Given the description of an element on the screen output the (x, y) to click on. 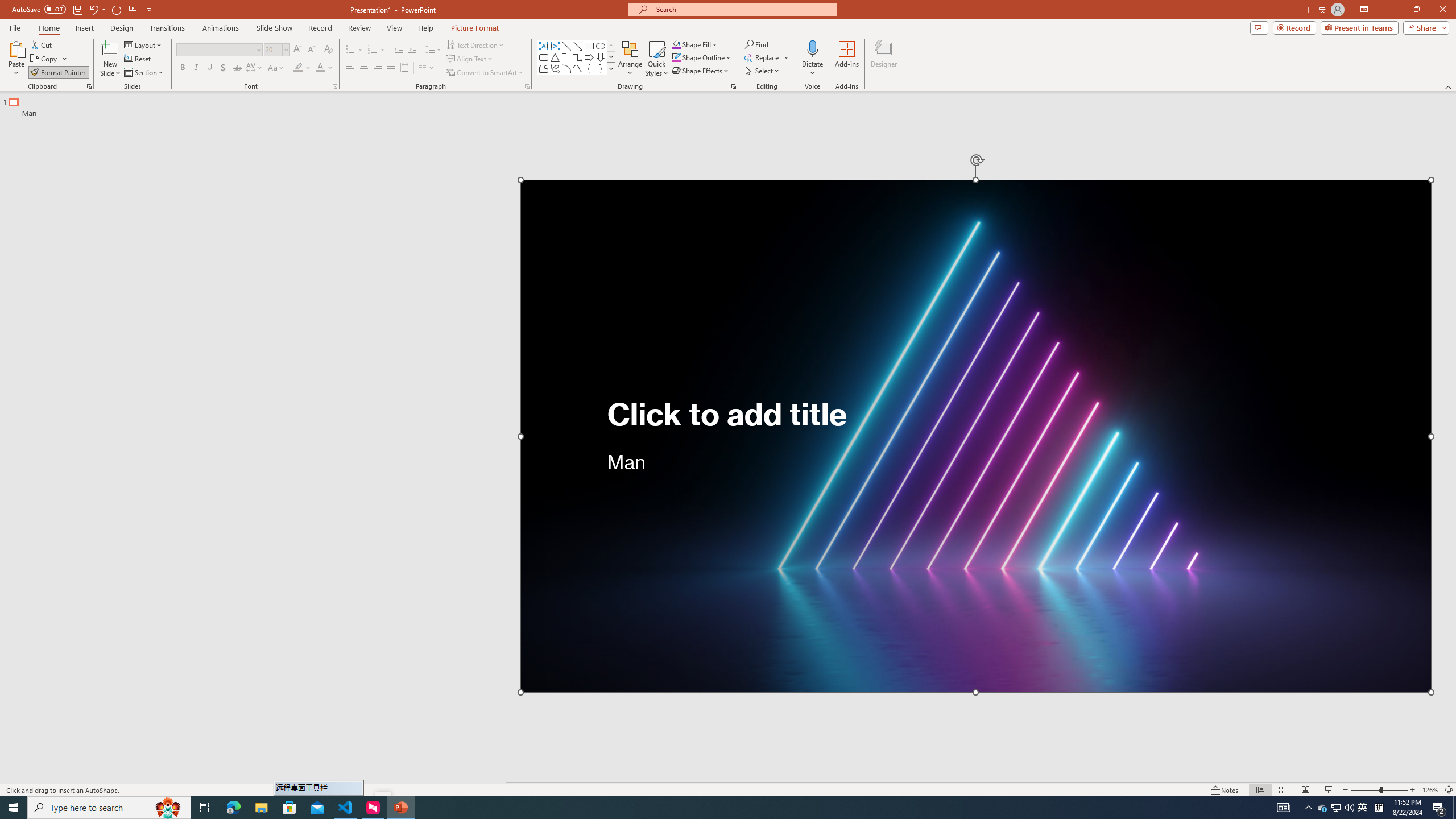
Zoom 126% (1430, 790)
